Given the description of an element on the screen output the (x, y) to click on. 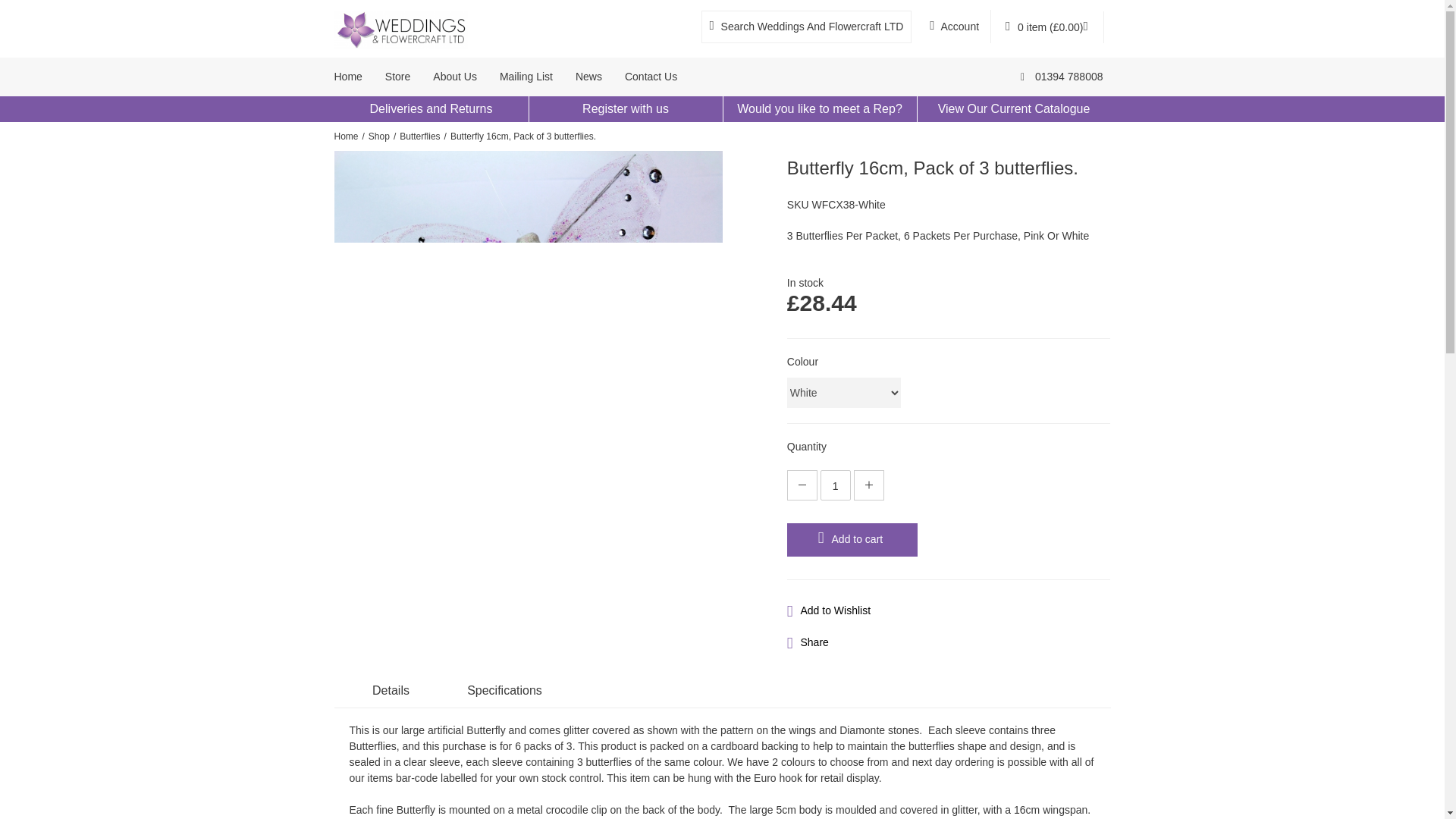
Mailing List (525, 76)
About Us (454, 76)
Account (954, 26)
Butterflies (418, 136)
Would you like to meet a Rep? (819, 108)
View Our Current Catalogue (1013, 108)
Store (398, 76)
Weddings And Flowercraft LTD (1061, 76)
Shop (379, 136)
add to cart (852, 539)
